Given the description of an element on the screen output the (x, y) to click on. 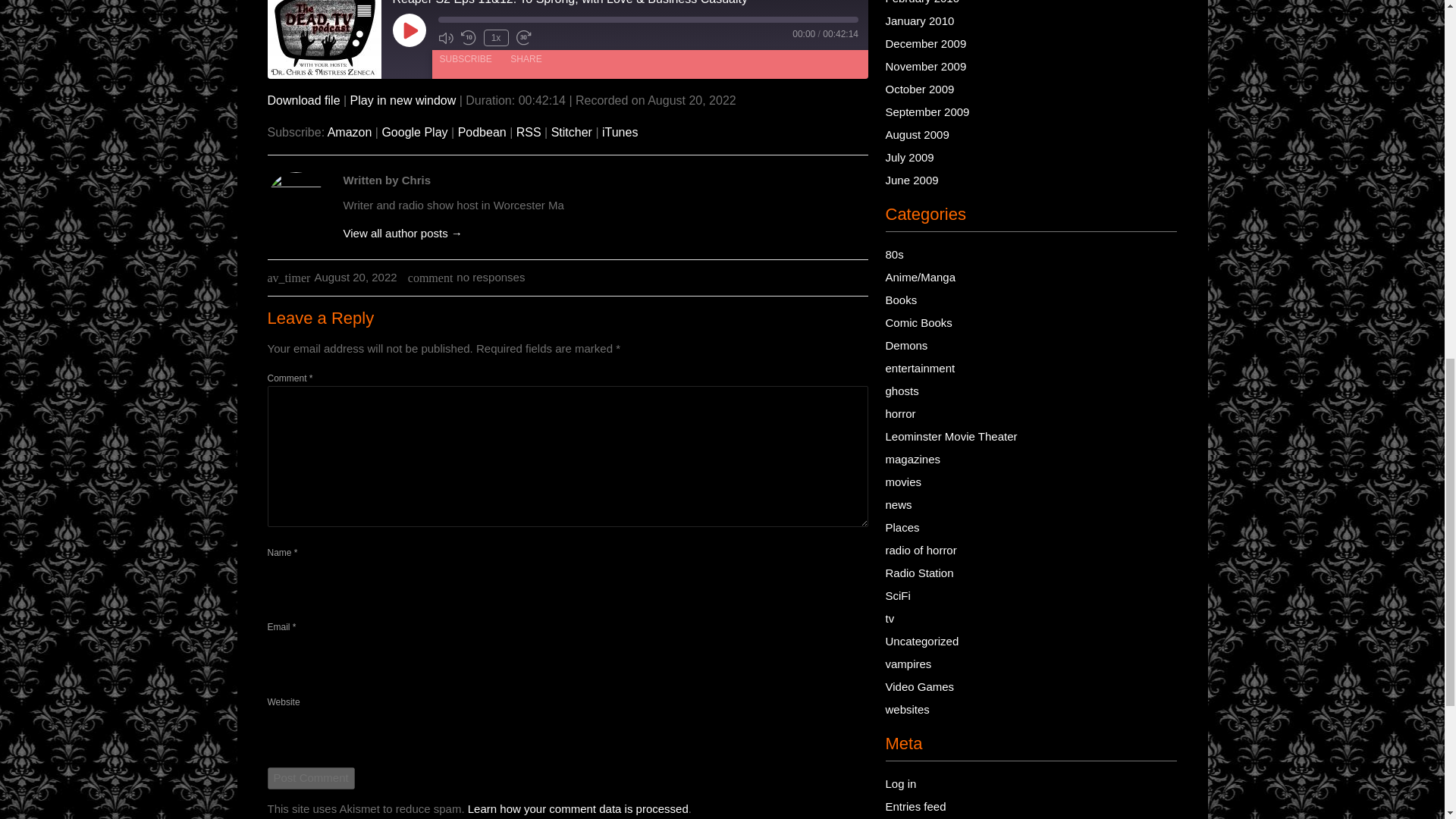
Rewind 10 Seconds (468, 37)
Rewind 10 seconds (468, 37)
Post Comment (309, 778)
SUBSCRIBE (465, 58)
SHARE (525, 58)
1x (495, 37)
Subscribe (465, 58)
Fast Forward 30 seconds (523, 37)
Playback Speed (495, 37)
The Dead TV Podcast (323, 39)
Play (409, 29)
Seek (648, 19)
Fast Forward 30 seconds (523, 37)
Play Episode (409, 29)
Share (525, 58)
